Given the description of an element on the screen output the (x, y) to click on. 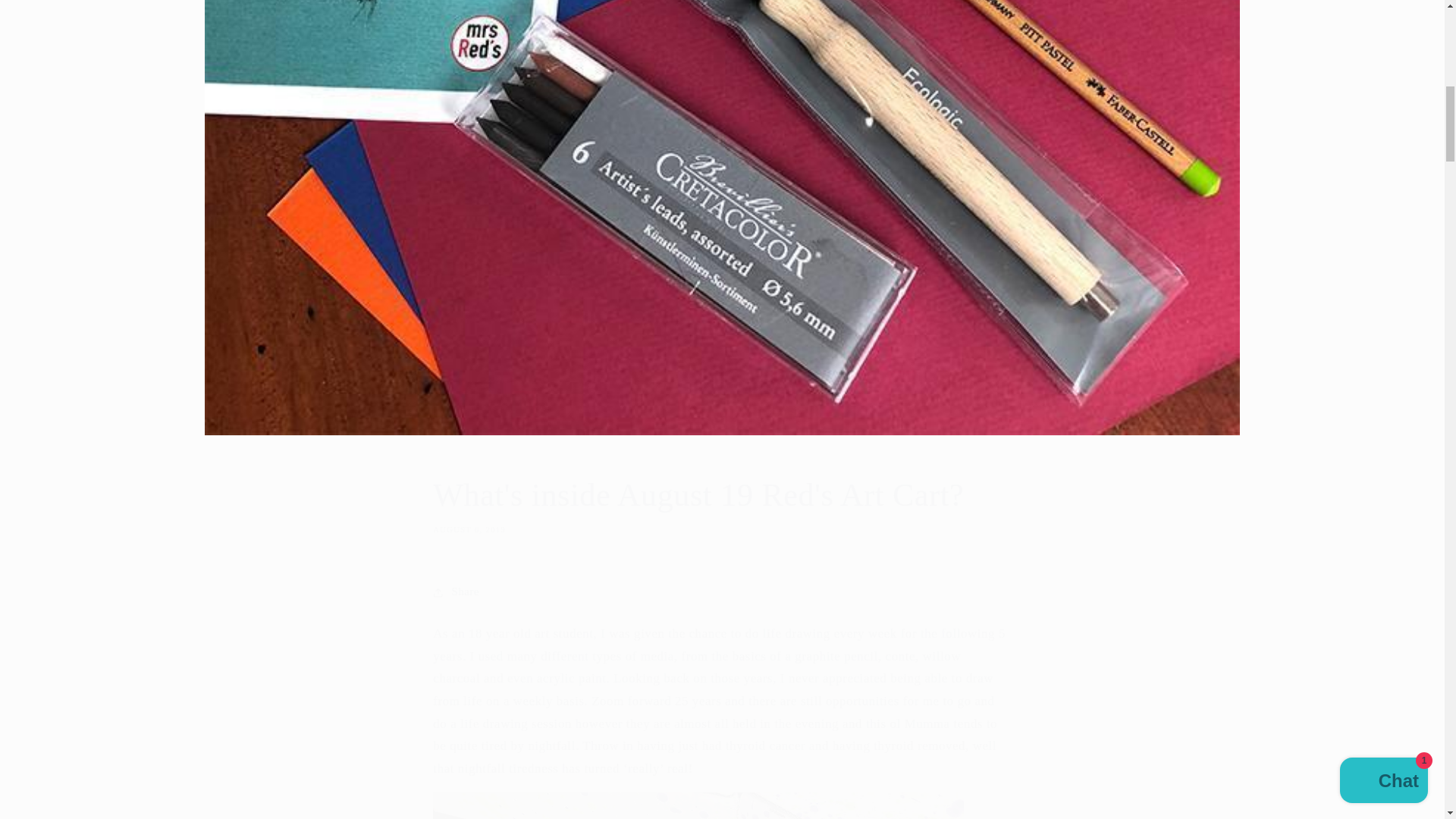
Share (721, 591)
